Given the description of an element on the screen output the (x, y) to click on. 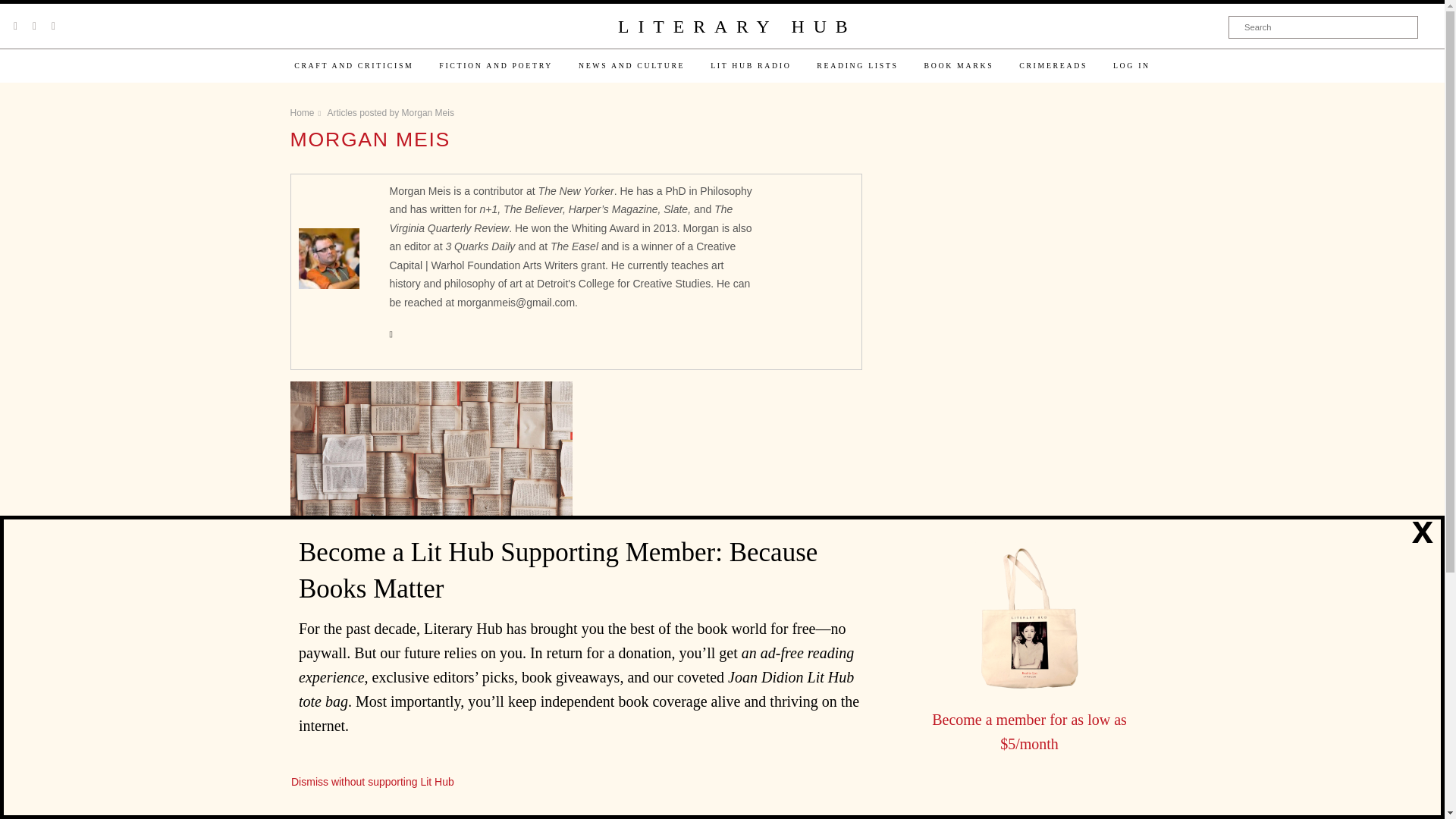
CRAFT AND CRITICISM (353, 65)
Subscribe to posts (398, 750)
NEWS AND CULTURE (631, 65)
FICTION AND POETRY (496, 65)
Search (1323, 26)
Ellen Ullman: We Have to Demystify Code (431, 573)
LITERARY HUB (736, 26)
Ellen Ullman: We Have to Demystify Code (430, 459)
